Given the description of an element on the screen output the (x, y) to click on. 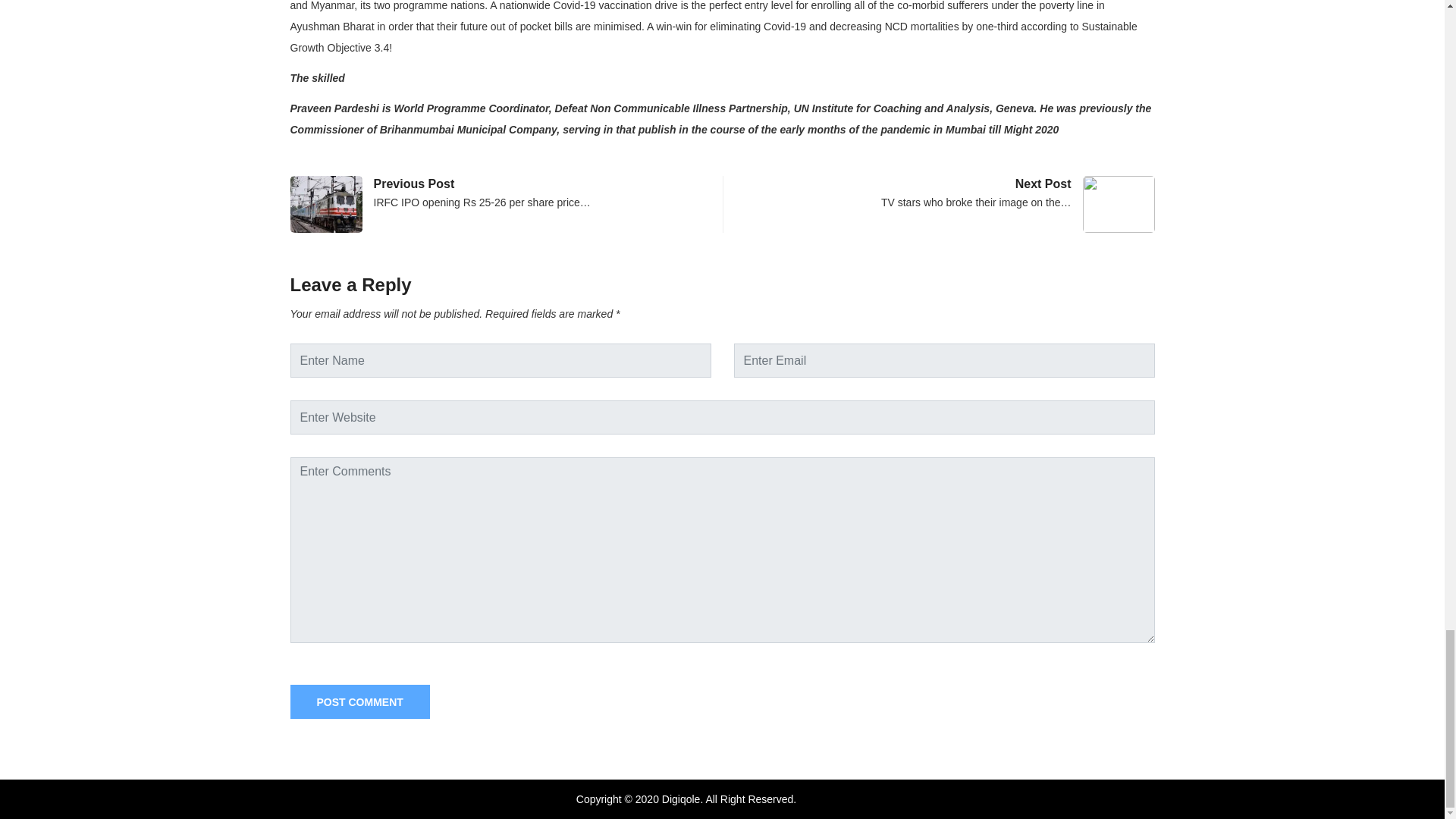
Post Comment (359, 701)
Post Comment (359, 701)
